Given the description of an element on the screen output the (x, y) to click on. 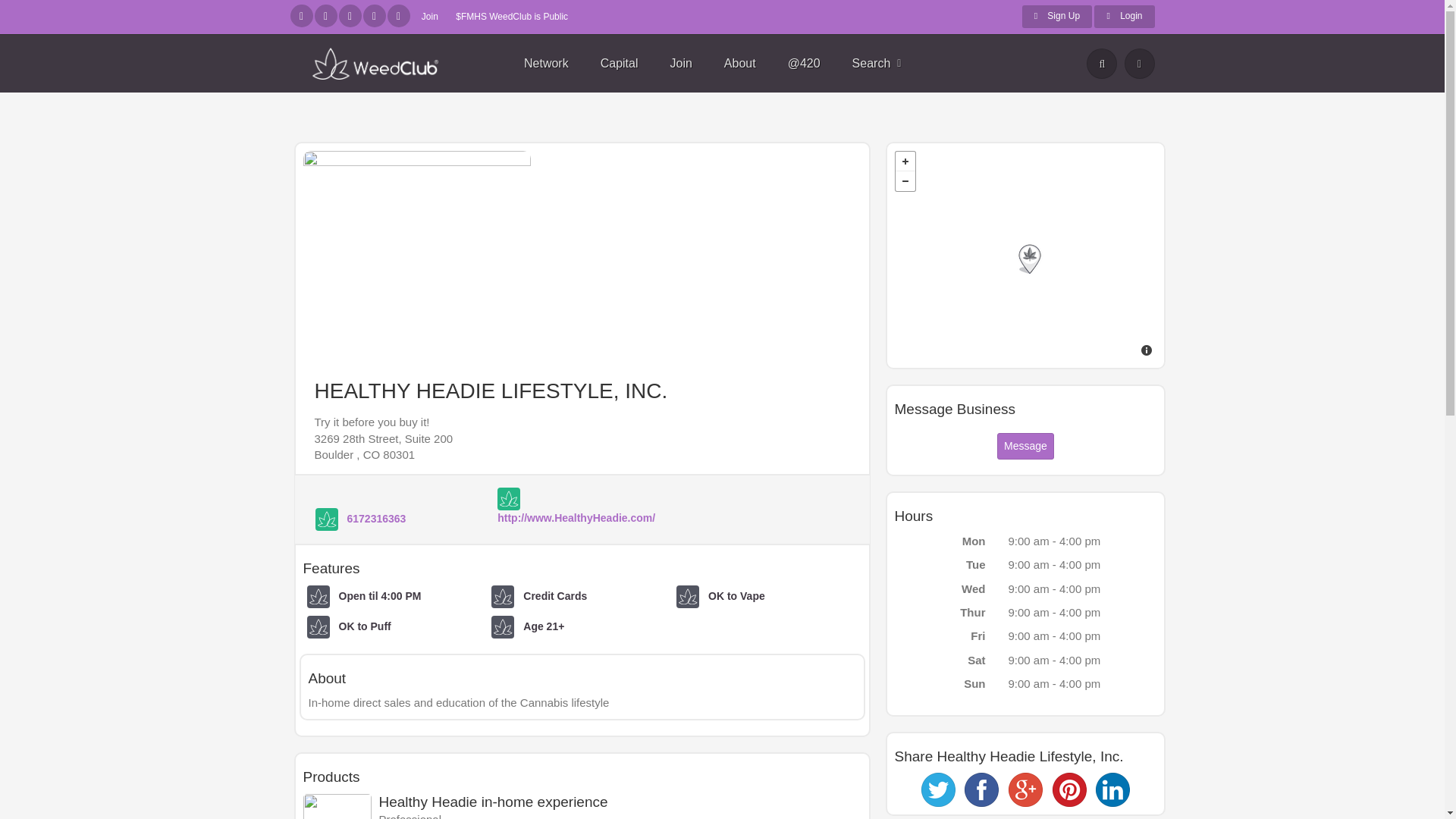
Zoom out (904, 180)
Network (546, 63)
Zoom in (904, 161)
Capital (619, 63)
Join (430, 16)
Sign Up (1057, 15)
Login (1124, 15)
